Given the description of an element on the screen output the (x, y) to click on. 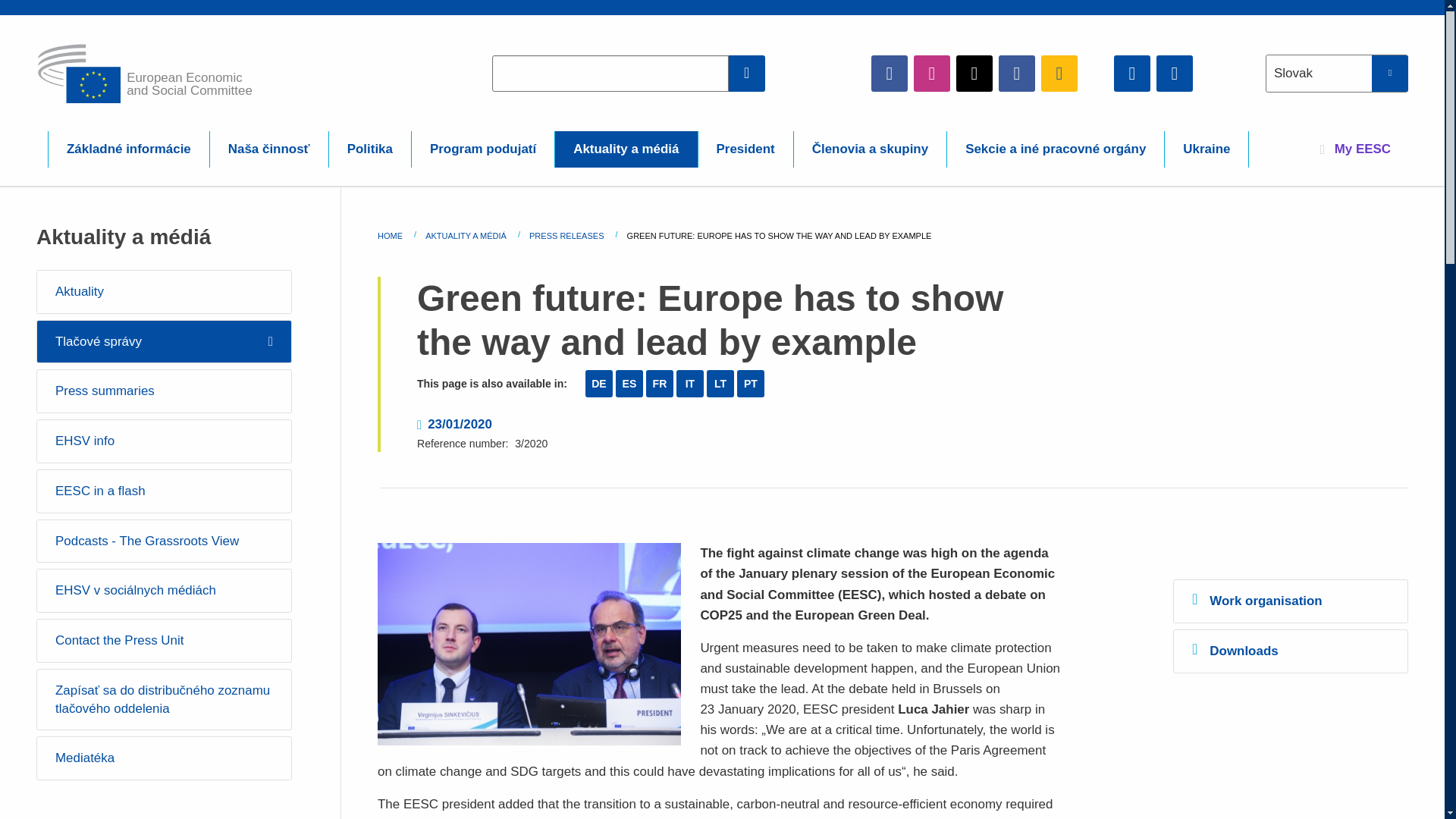
Search EESC Website (747, 72)
My EESC (1355, 149)
